Given the description of an element on the screen output the (x, y) to click on. 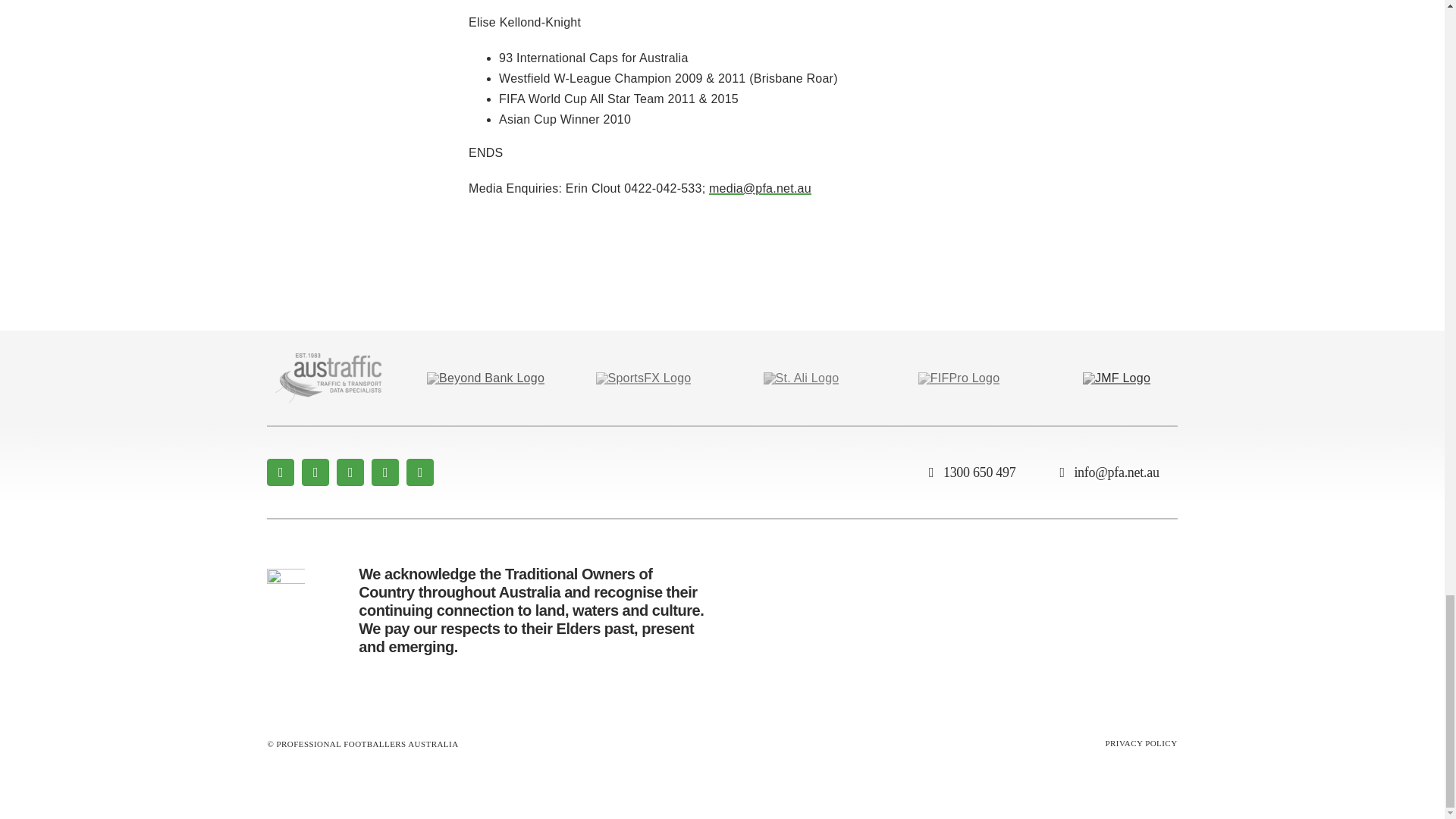
Instagram (350, 472)
Facebook (280, 472)
LinkedIn (419, 472)
X (315, 472)
YouTube (384, 472)
